Given the description of an element on the screen output the (x, y) to click on. 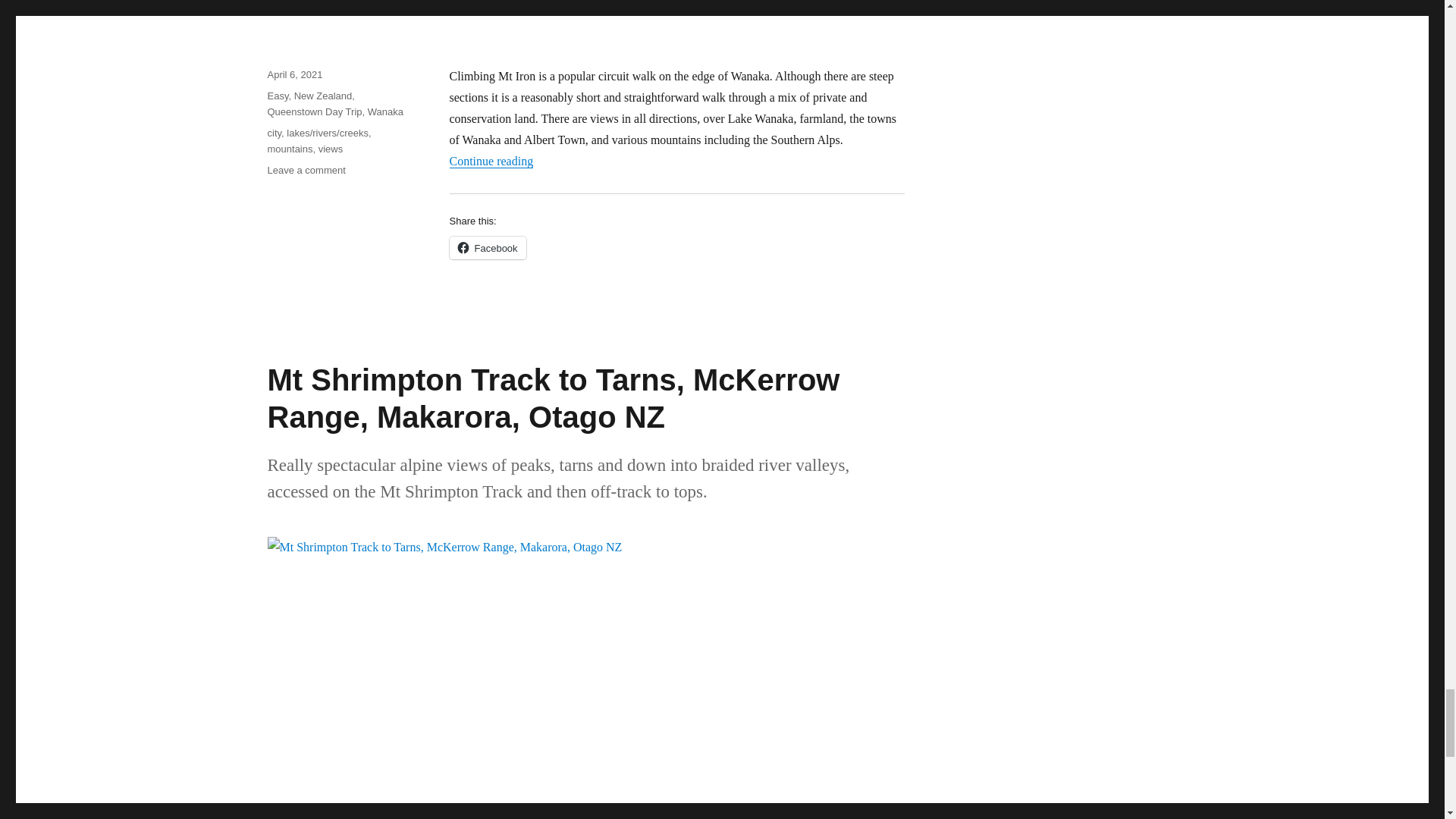
Click to share on Facebook (486, 247)
